Given the description of an element on the screen output the (x, y) to click on. 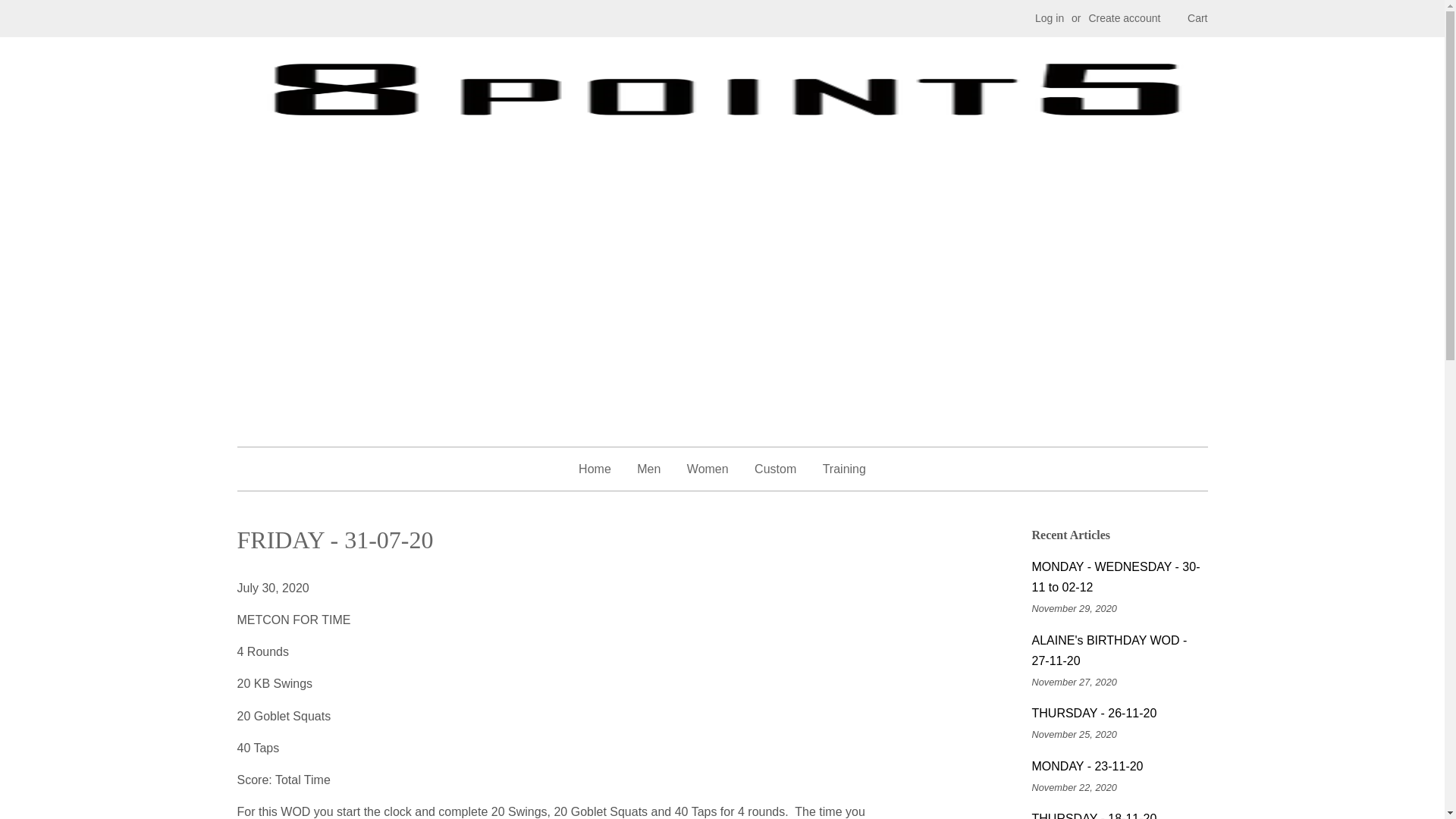
Women (707, 468)
Custom (775, 468)
Men (648, 468)
Home (600, 468)
Log in (1049, 18)
Cart (1197, 18)
Create account (1123, 18)
